Given the description of an element on the screen output the (x, y) to click on. 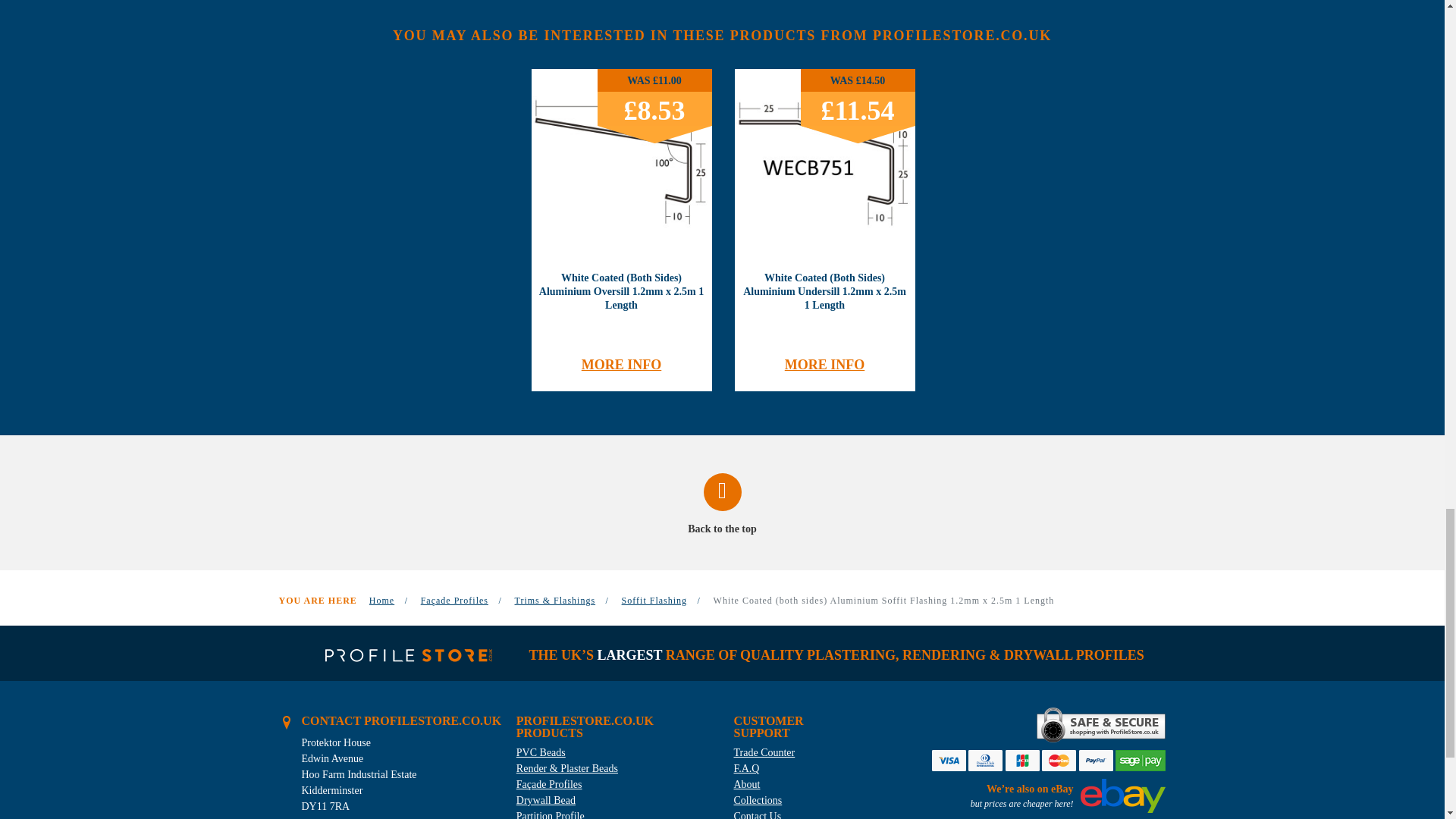
Back to the top (722, 504)
